Given the description of an element on the screen output the (x, y) to click on. 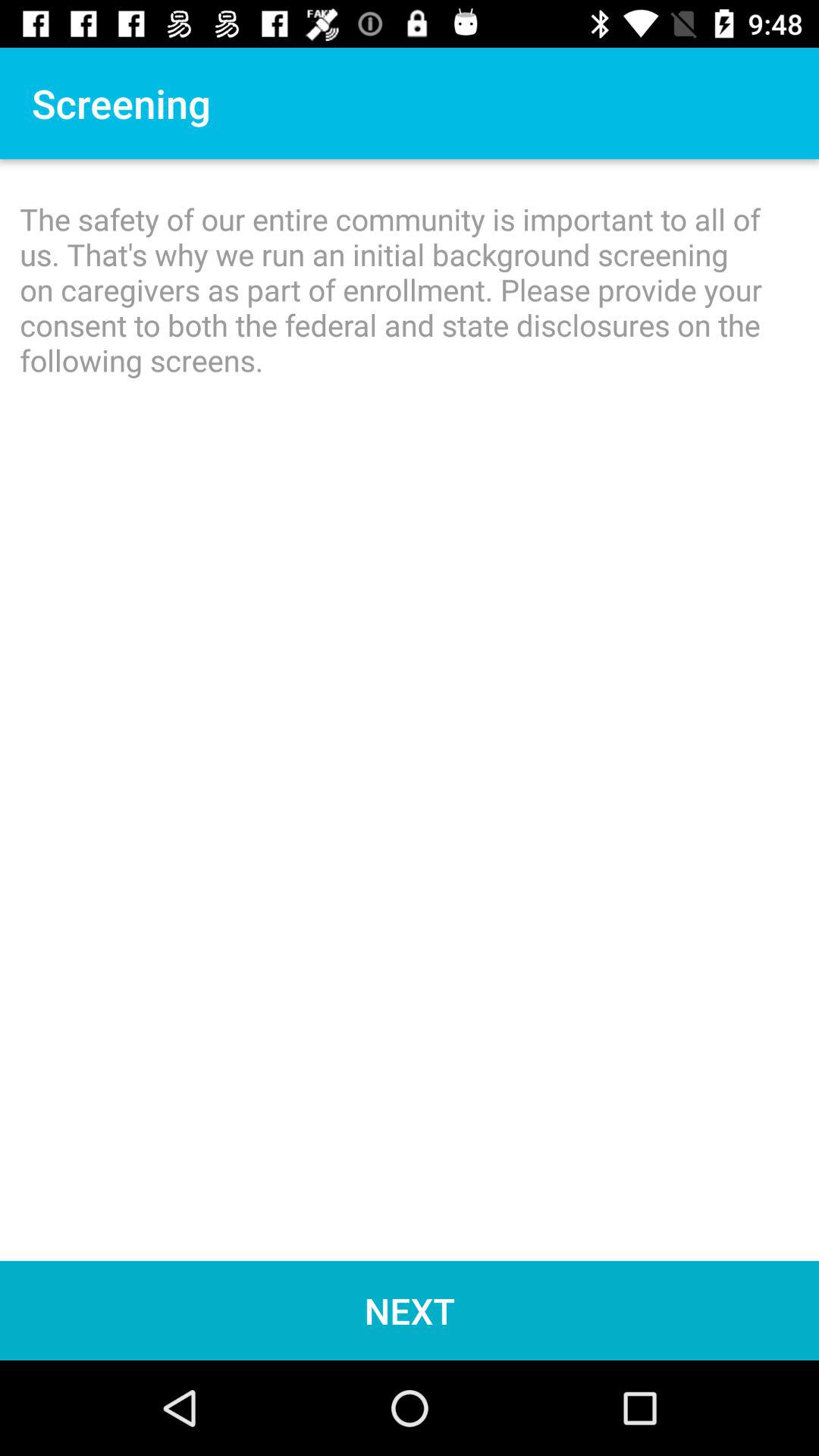
select the next item (409, 1310)
